Given the description of an element on the screen output the (x, y) to click on. 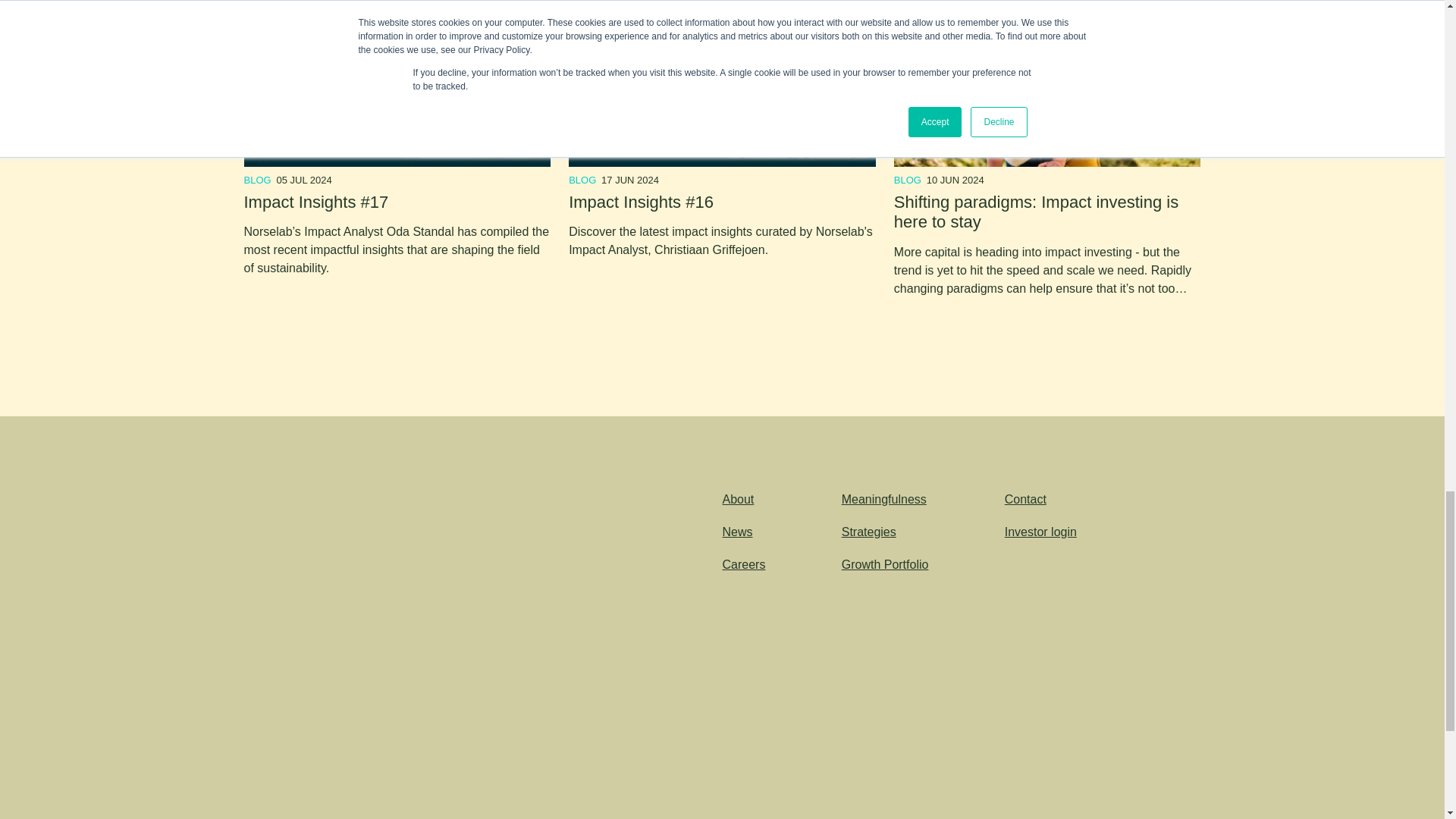
Form 0 (430, 640)
About (738, 499)
Careers (743, 564)
BLOG (907, 180)
News (737, 531)
BLOG (257, 180)
BLOG (582, 180)
Shifting paradigms: Impact investing is here to stay (1035, 211)
Meaningfulness (883, 499)
